Given the description of an element on the screen output the (x, y) to click on. 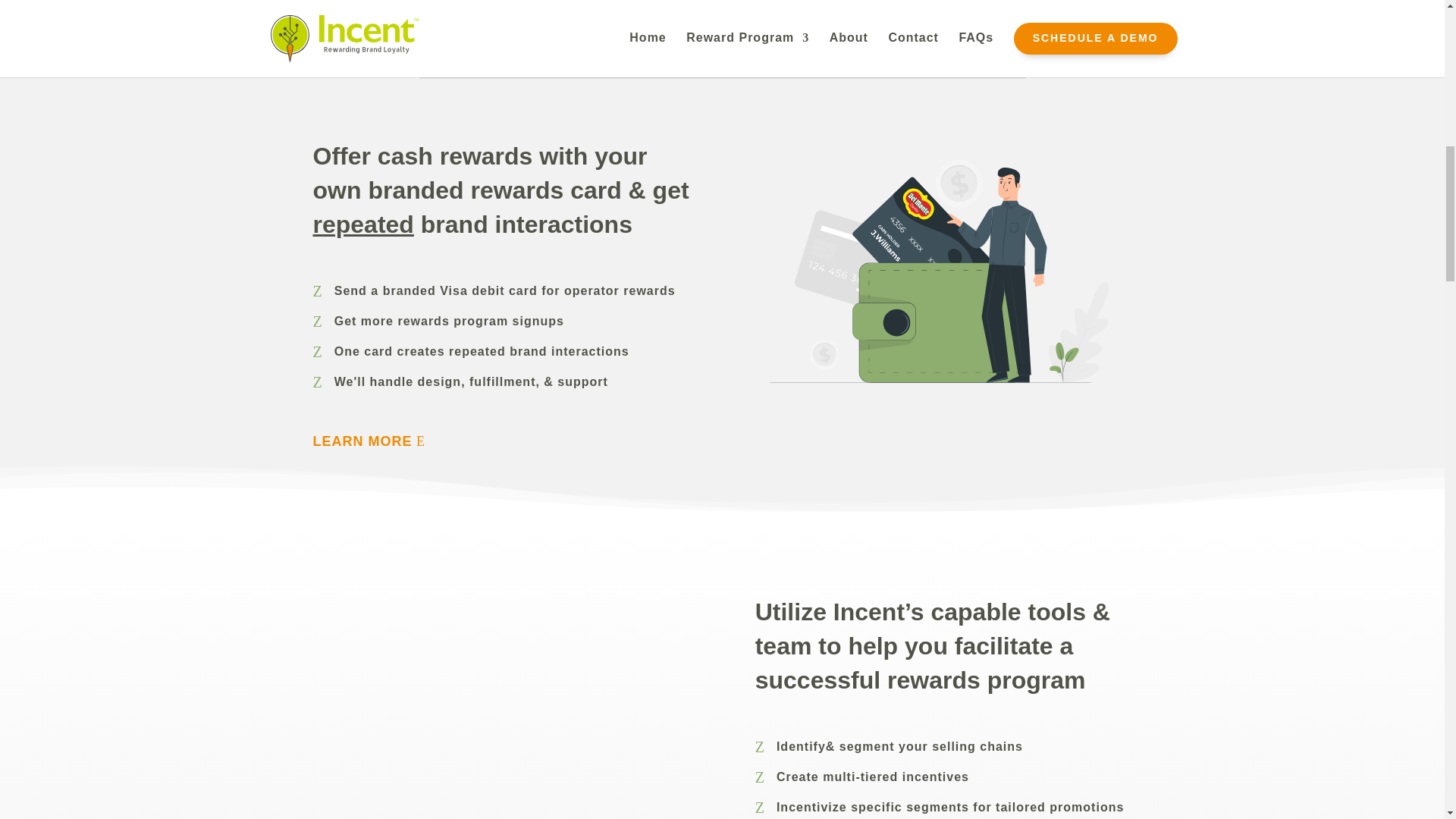
LEARN MORE (375, 441)
